Given the description of an element on the screen output the (x, y) to click on. 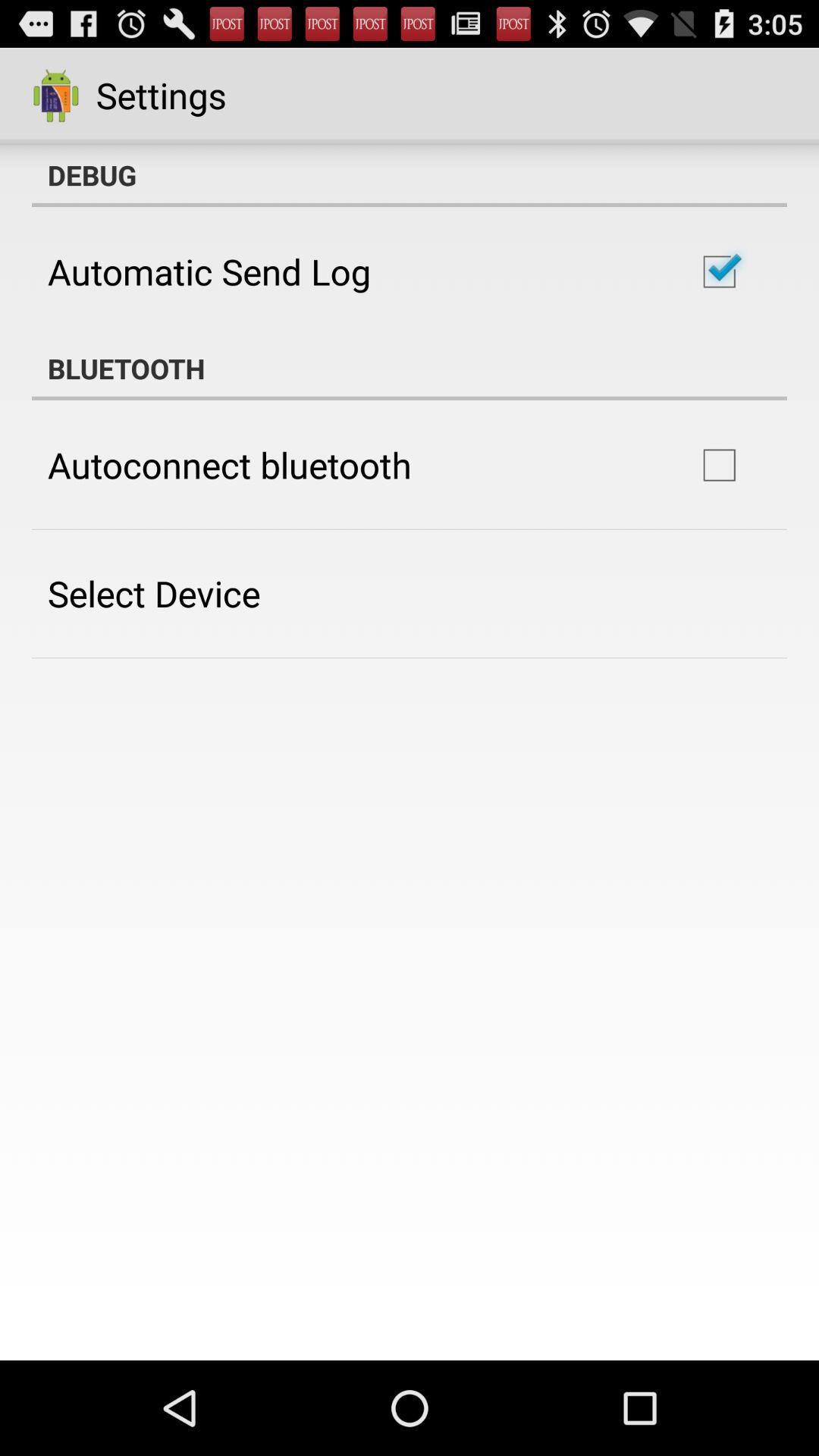
flip until autoconnect bluetooth (229, 464)
